Given the description of an element on the screen output the (x, y) to click on. 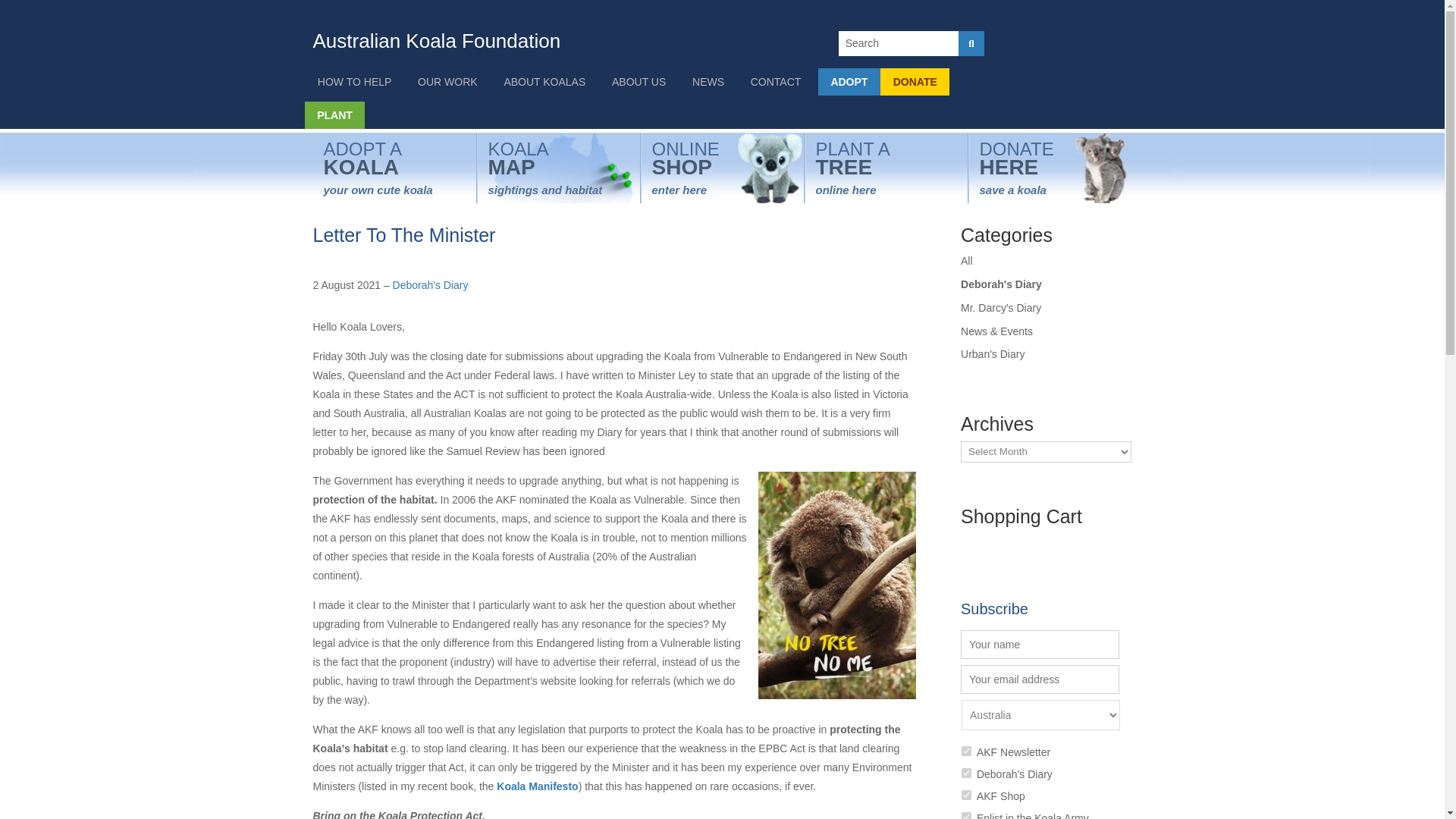
ABOUT US (638, 81)
OUR WORK (447, 81)
AKF Shop (965, 795)
Enlist in the Koala Army (965, 815)
ABOUT KOALAS (544, 81)
NEWS (708, 81)
AKF Newsletter (965, 750)
HOW TO HELP (354, 81)
Deborah's Diary (965, 773)
